Given the description of an element on the screen output the (x, y) to click on. 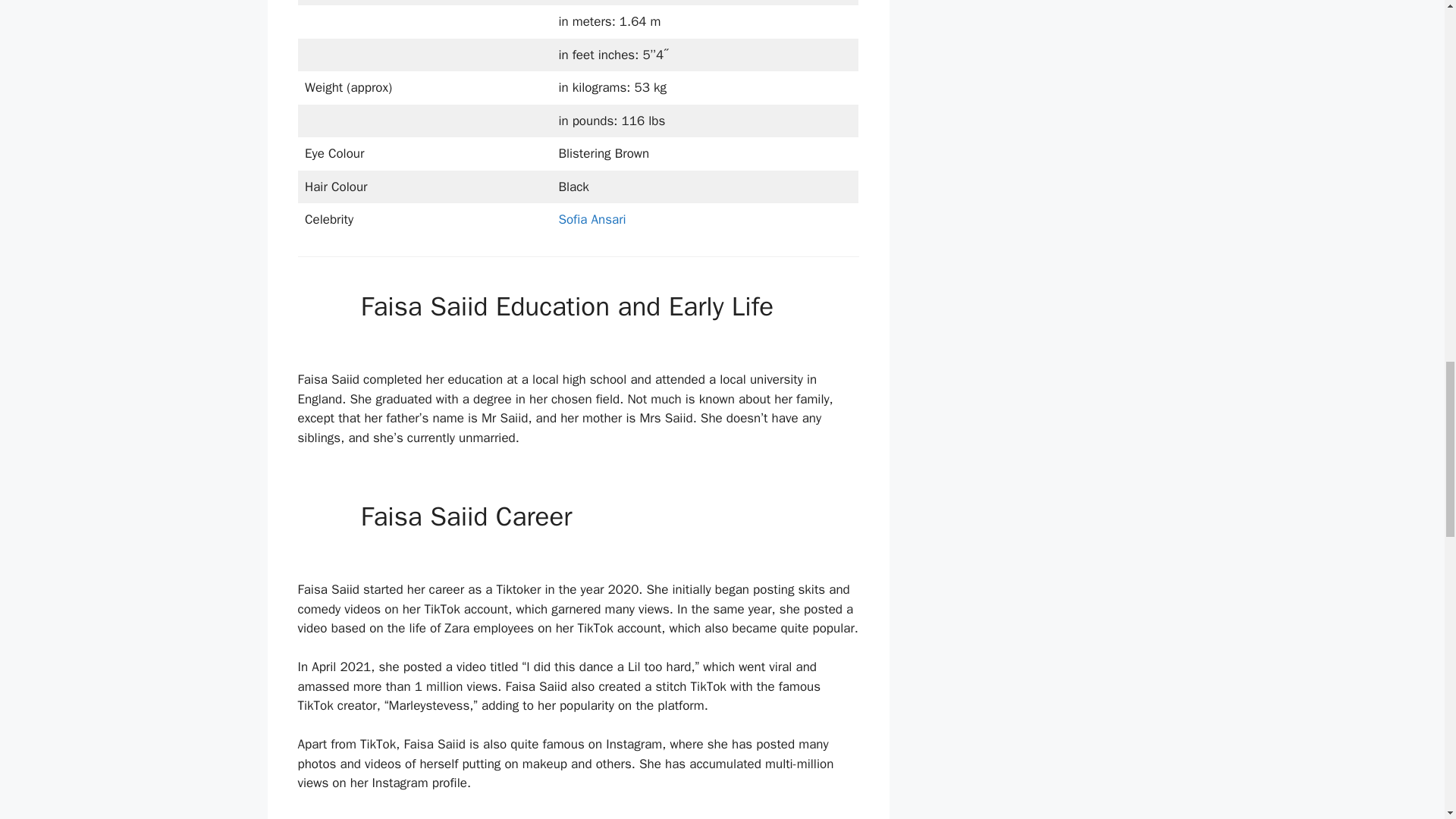
Sofia Ansari (591, 219)
